Given the description of an element on the screen output the (x, y) to click on. 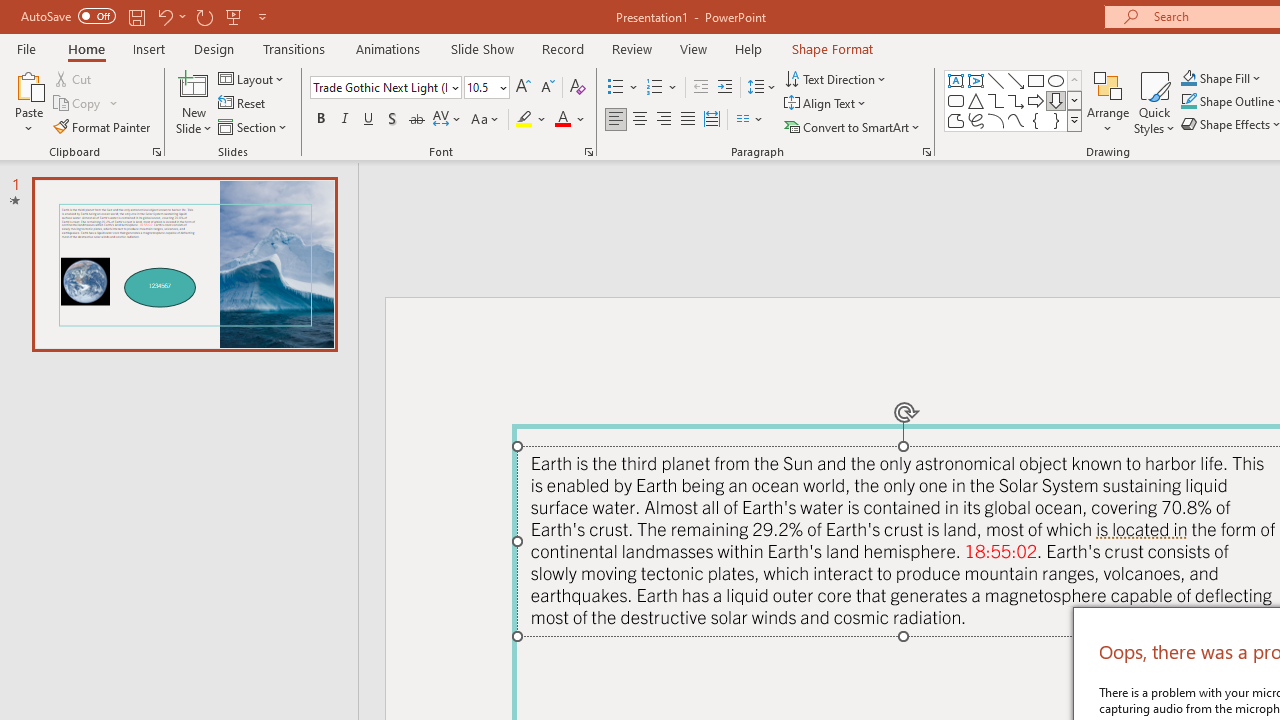
Shape Outline Teal, Accent 1 (1188, 101)
